Given the description of an element on the screen output the (x, y) to click on. 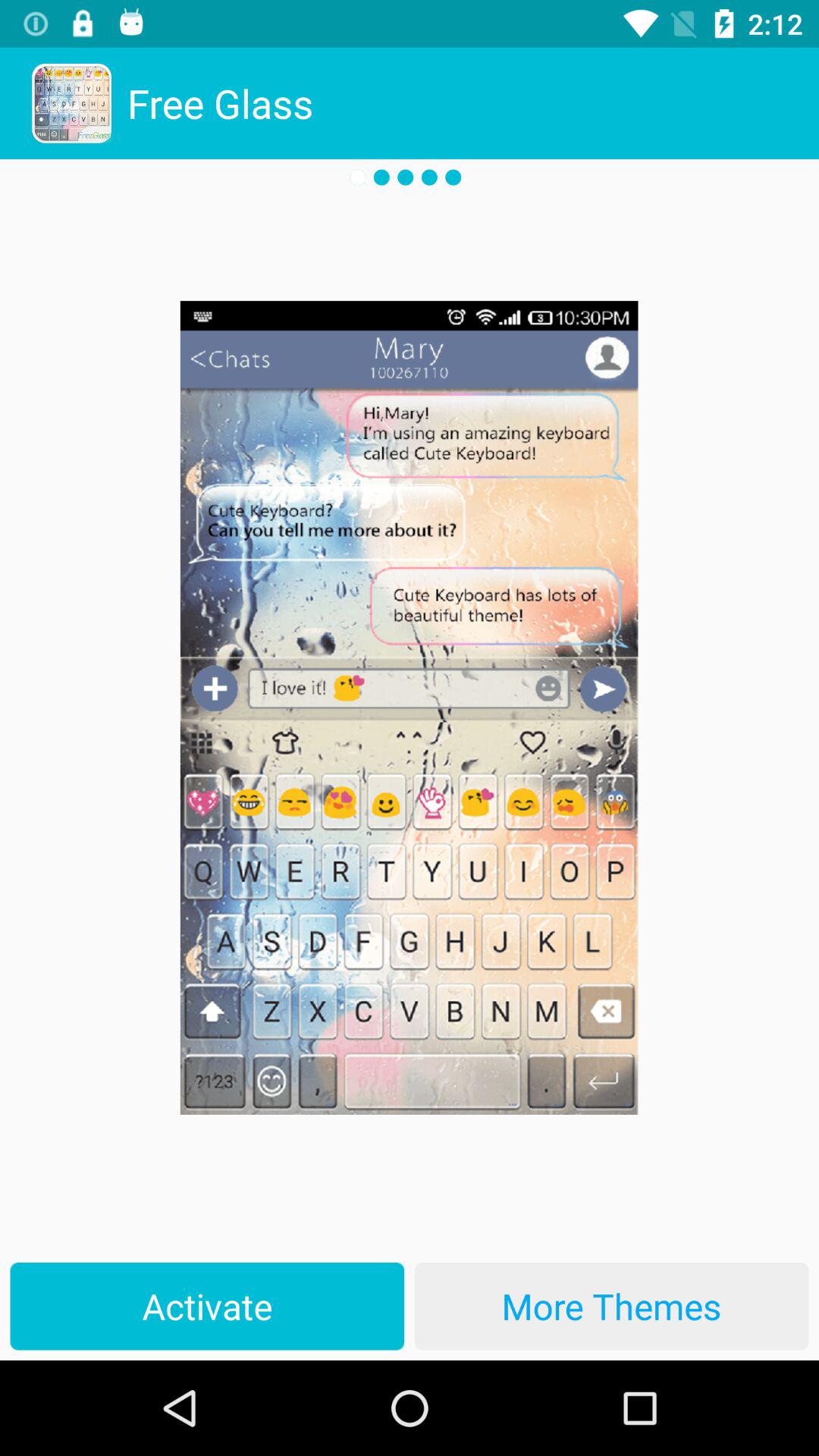
open icon at the bottom left corner (207, 1306)
